Given the description of an element on the screen output the (x, y) to click on. 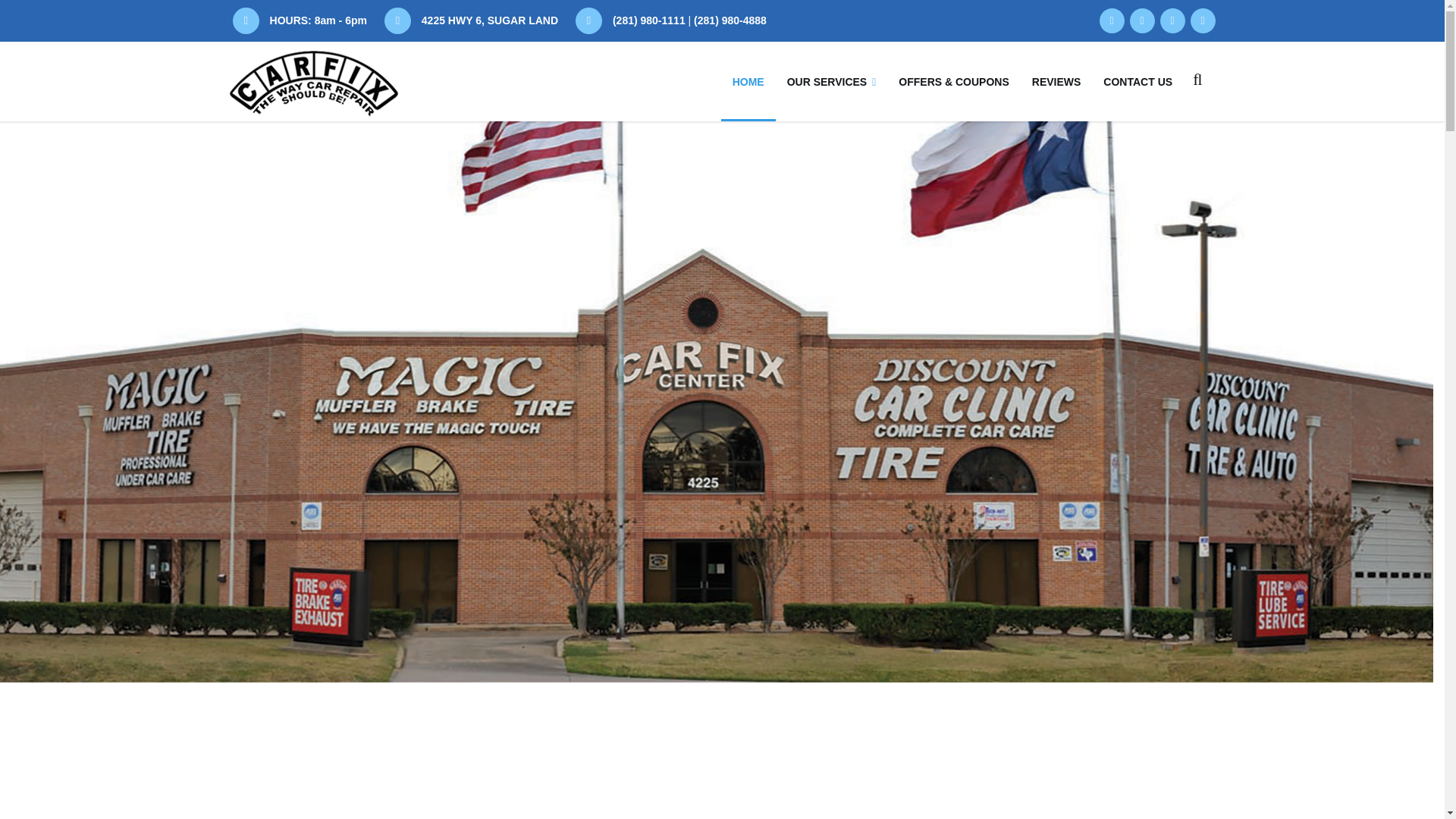
CONTACT US (1137, 81)
Go (1168, 144)
OUR SERVICES (832, 81)
REVIEWS (1056, 81)
